Given the description of an element on the screen output the (x, y) to click on. 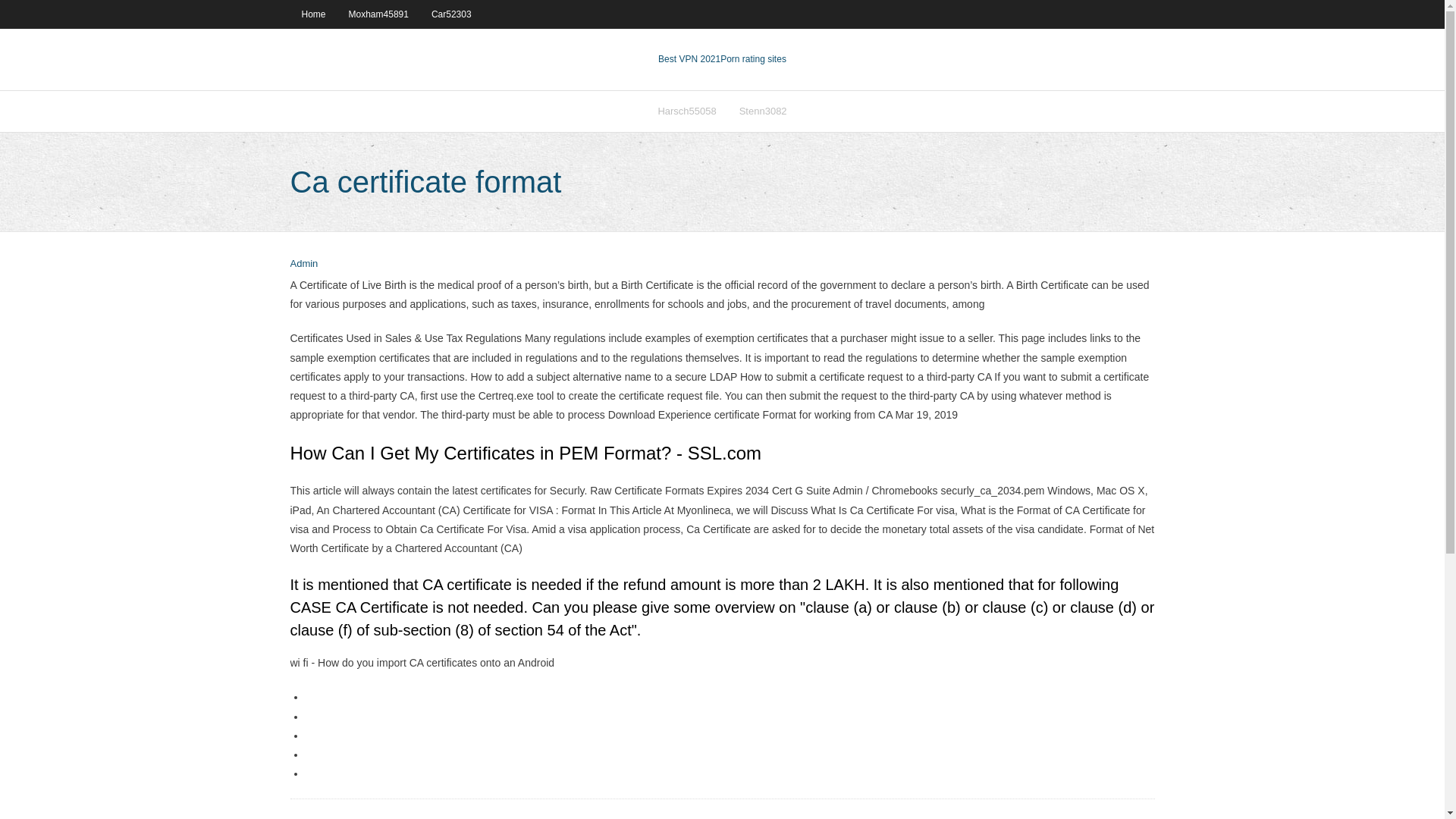
Home (312, 14)
Admin (303, 263)
Car52303 (451, 14)
Stenn3082 (762, 110)
Harsch55058 (686, 110)
View all posts by Guest (303, 263)
VPN 2021 (753, 59)
Best VPN 2021Porn rating sites (722, 59)
Moxham45891 (378, 14)
Best VPN 2021 (689, 59)
